Given the description of an element on the screen output the (x, y) to click on. 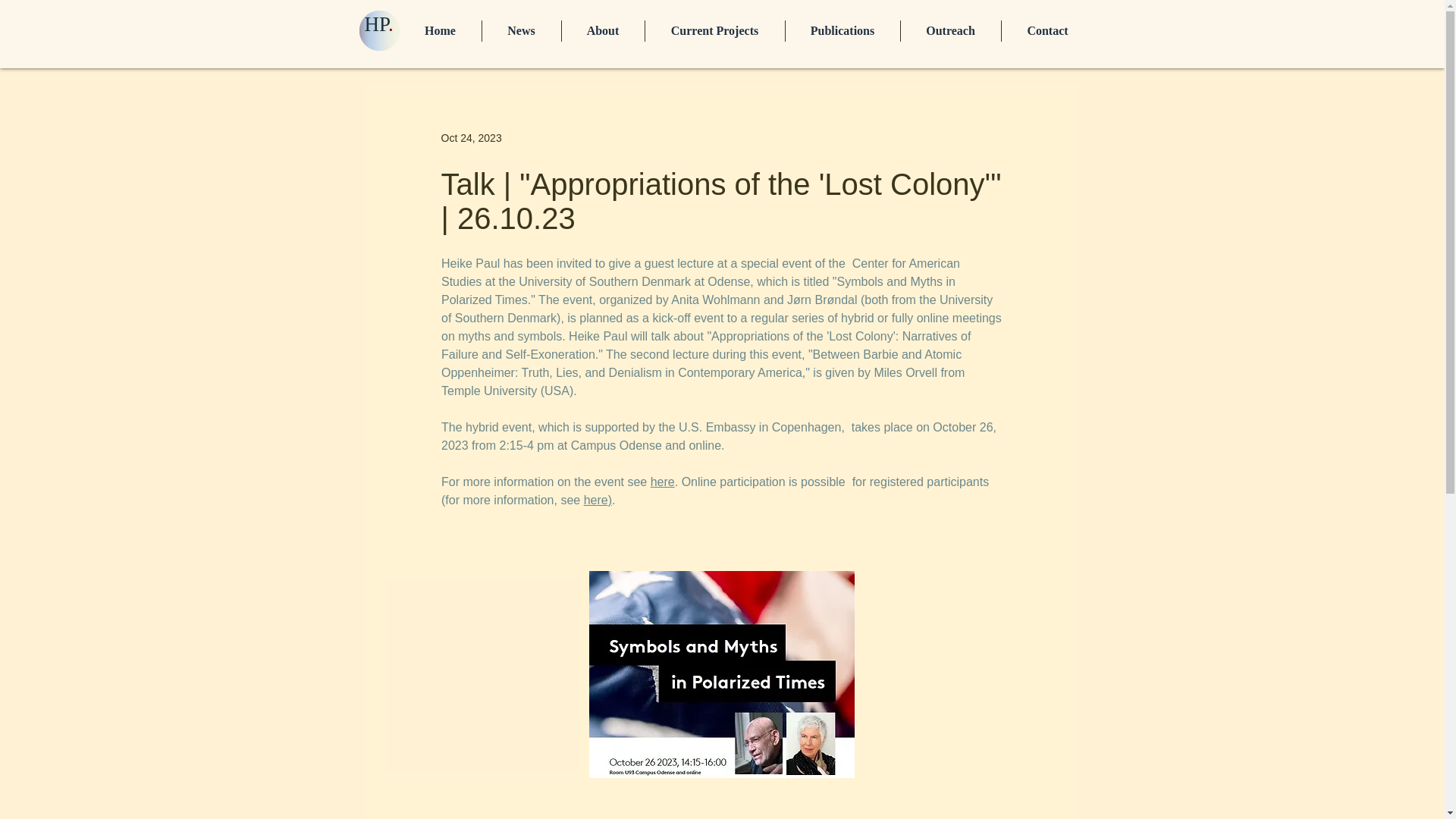
Outreach (951, 30)
Oct 24, 2023 (471, 137)
Current Projects (714, 30)
Contact (1047, 30)
About (601, 30)
here (661, 481)
here (595, 499)
Publications (842, 30)
News (520, 30)
Home (439, 30)
